Given the description of an element on the screen output the (x, y) to click on. 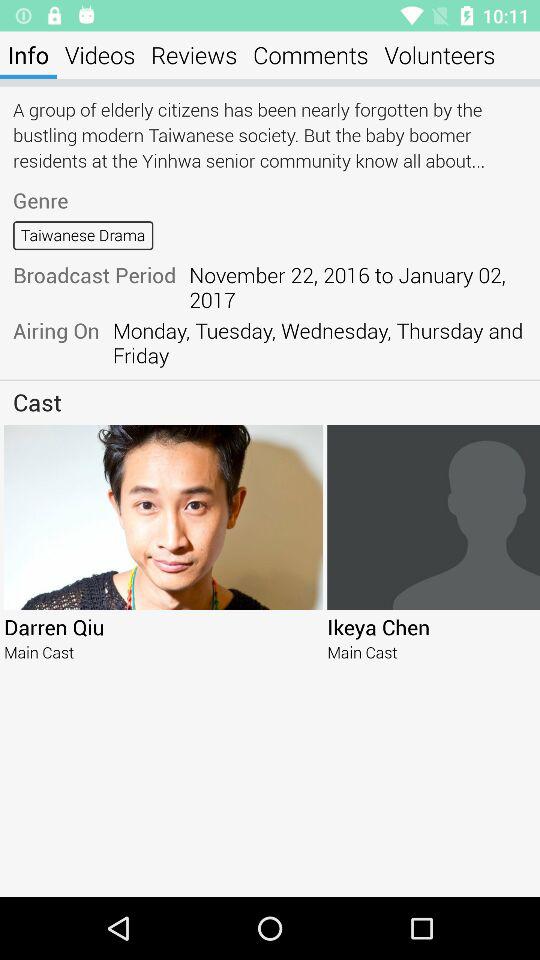
scroll until the a group of (269, 134)
